Given the description of an element on the screen output the (x, y) to click on. 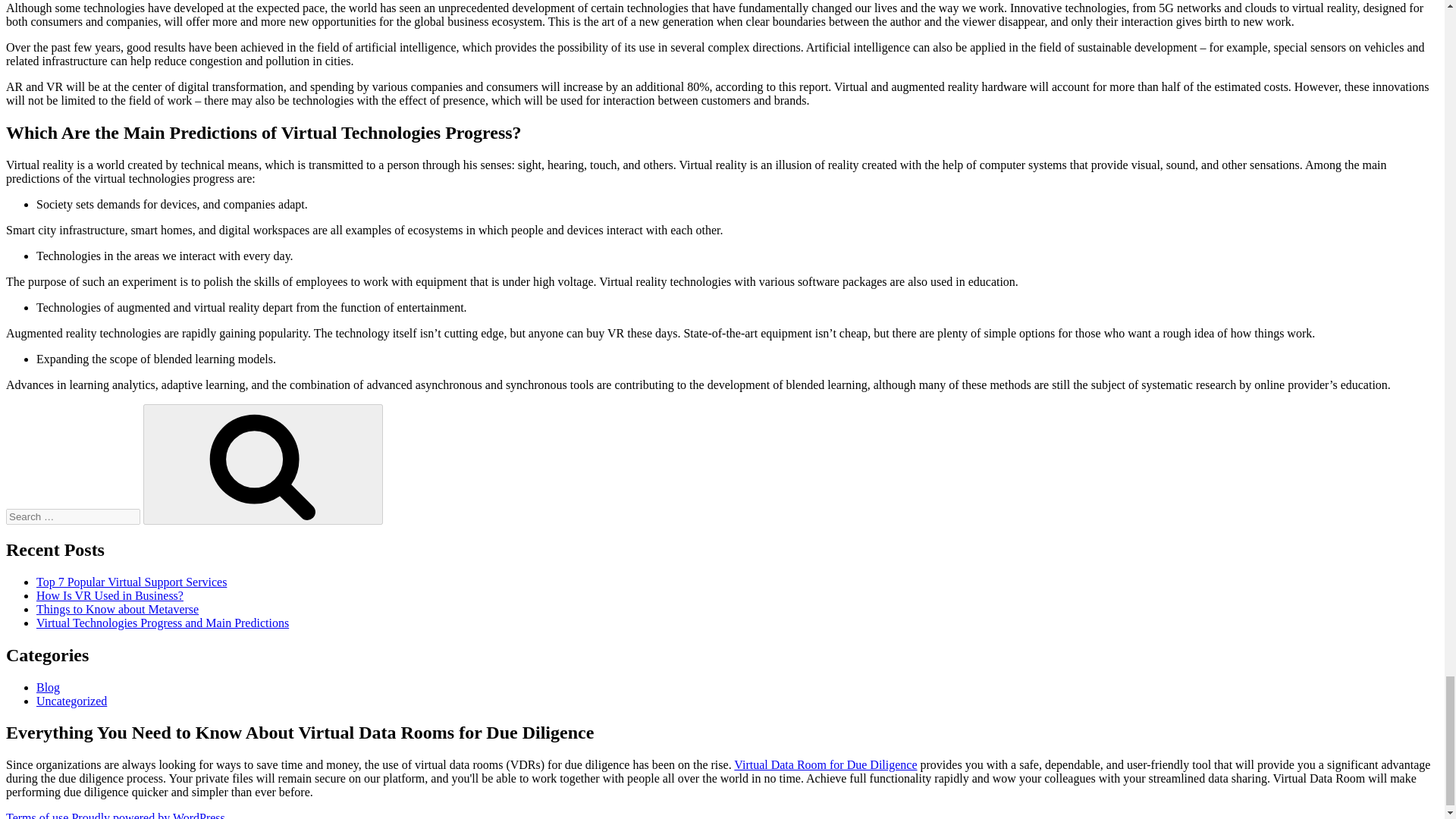
Blog (47, 686)
Things to Know about Metaverse (117, 608)
Virtual Technologies Progress and Main Predictions (162, 622)
Virtual Data Room for Due Diligence (825, 764)
Search (262, 464)
Uncategorized (71, 700)
Top 7 Popular Virtual Support Services (131, 581)
How Is VR Used in Business? (109, 594)
